Given the description of an element on the screen output the (x, y) to click on. 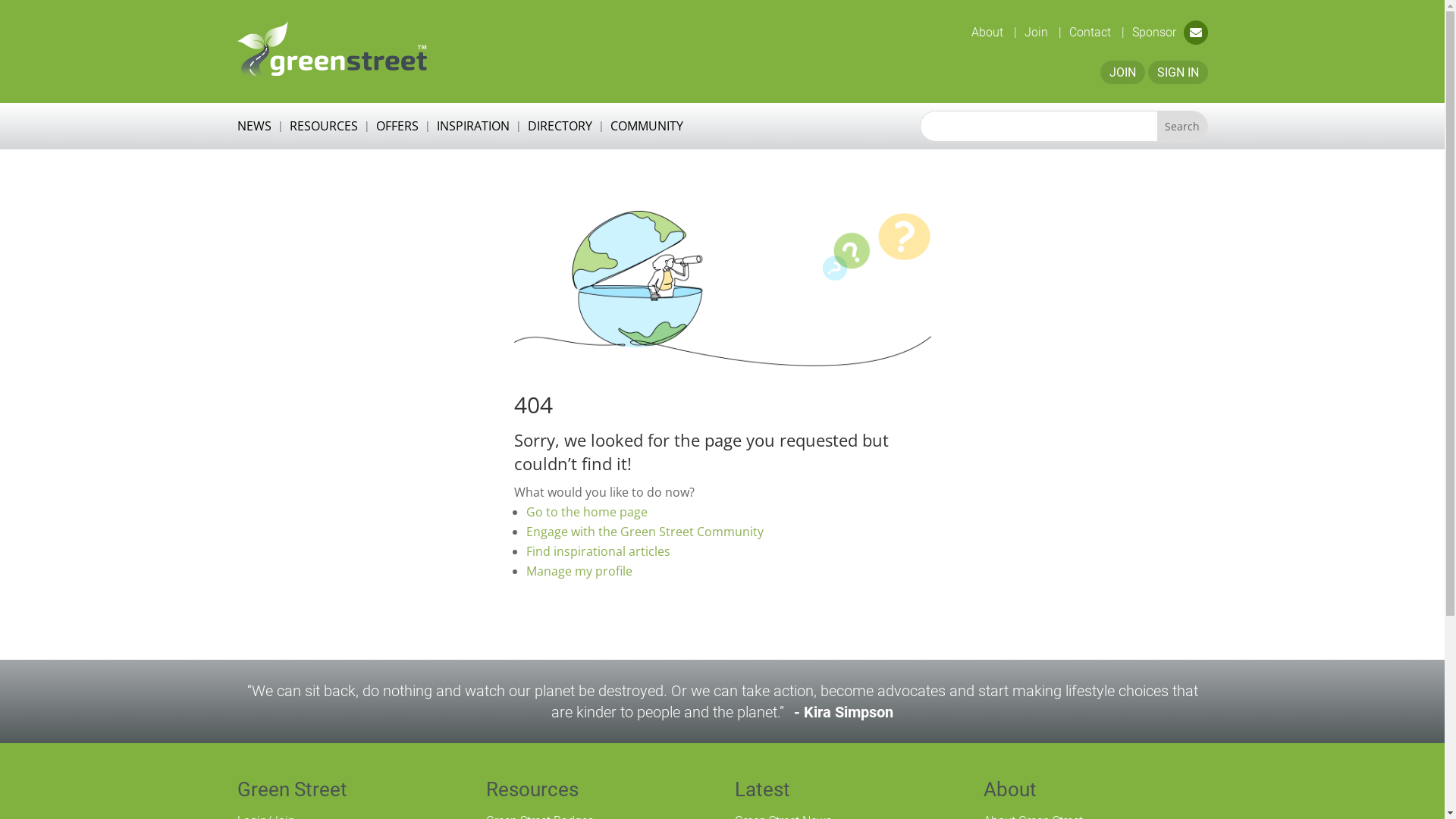
JOIN Element type: text (1121, 72)
OFFERS Element type: text (397, 128)
NEWS Element type: text (253, 128)
About Element type: text (993, 32)
Sponsor Element type: text (1153, 32)
Green Street Element type: hover (331, 48)
Search Element type: text (1182, 126)
SIGN IN Element type: text (1178, 72)
Contact Element type: text (1096, 32)
Engage with the Green Street Community Element type: text (644, 531)
Manage my profile Element type: text (579, 570)
DIRECTORY Element type: text (559, 128)
Green Street Element type: text (291, 789)
Find inspirational articles Element type: text (598, 550)
Resources Element type: text (531, 789)
Go to the home page Element type: text (586, 511)
About Element type: text (1008, 789)
RESOURCES Element type: text (323, 128)
Join Element type: text (1041, 32)
COMMUNITY Element type: text (645, 128)
INSPIRATION Element type: text (472, 128)
